Given the description of an element on the screen output the (x, y) to click on. 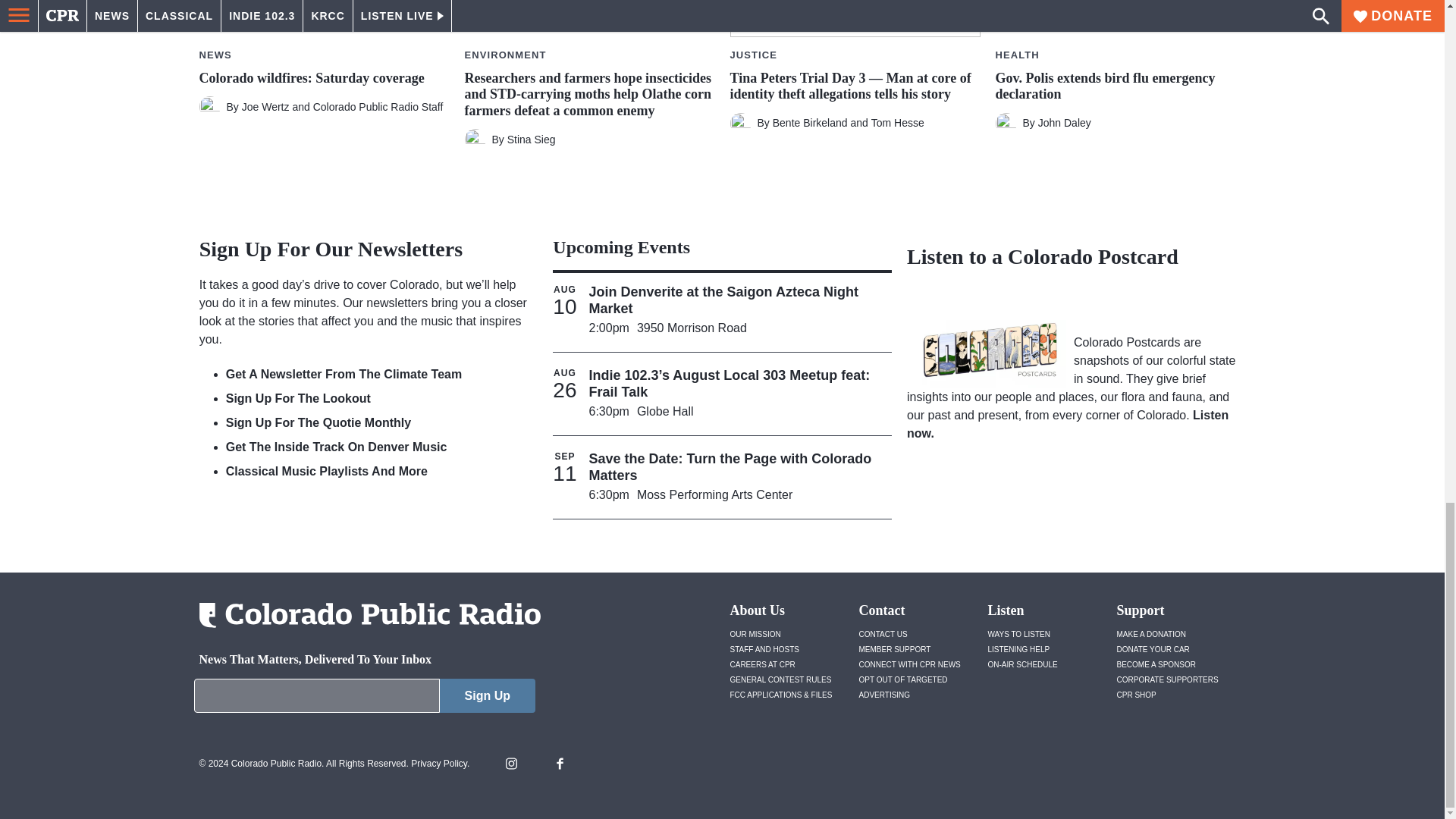
footer (364, 699)
